Given the description of an element on the screen output the (x, y) to click on. 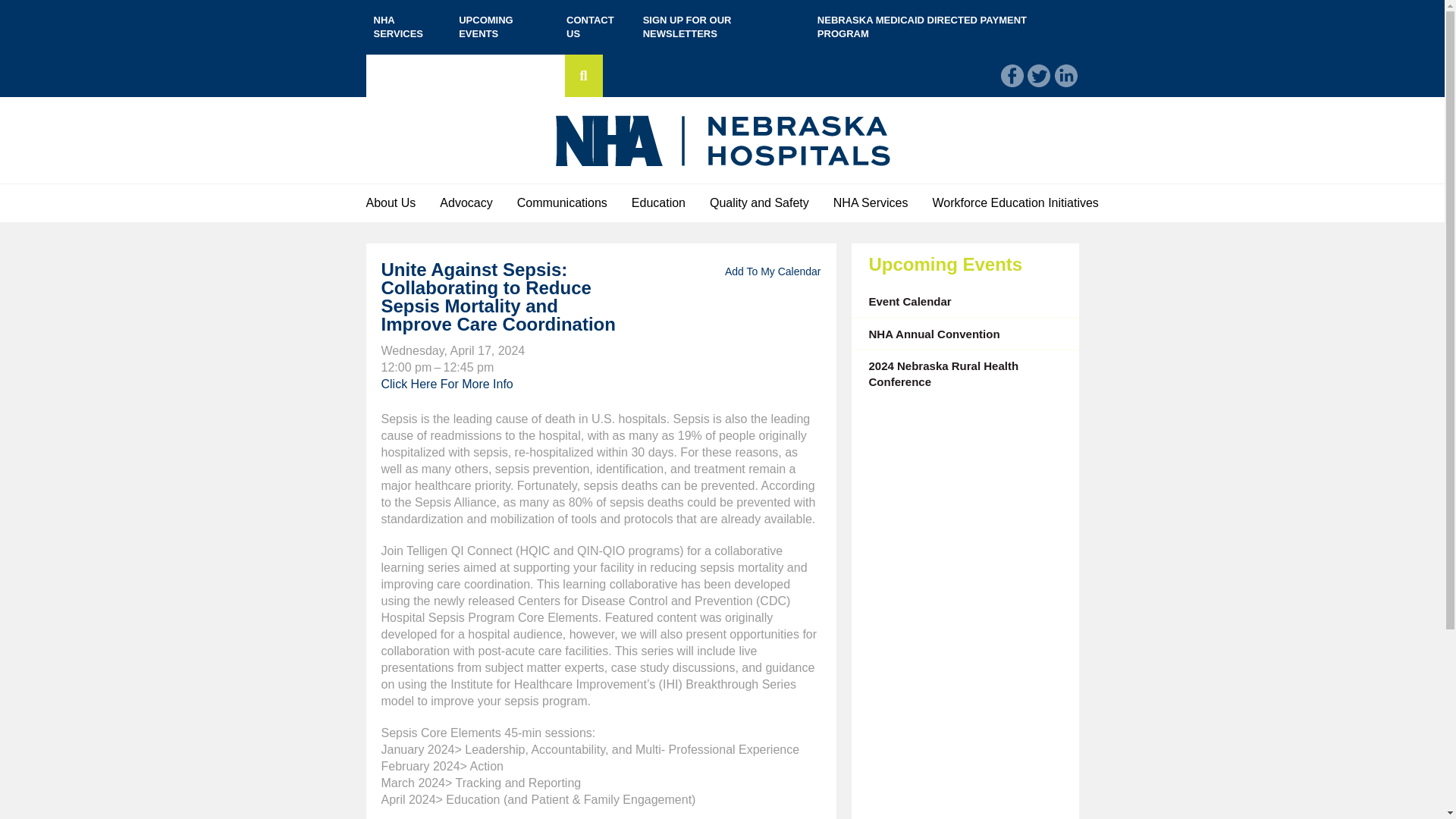
logo (722, 140)
